Given the description of an element on the screen output the (x, y) to click on. 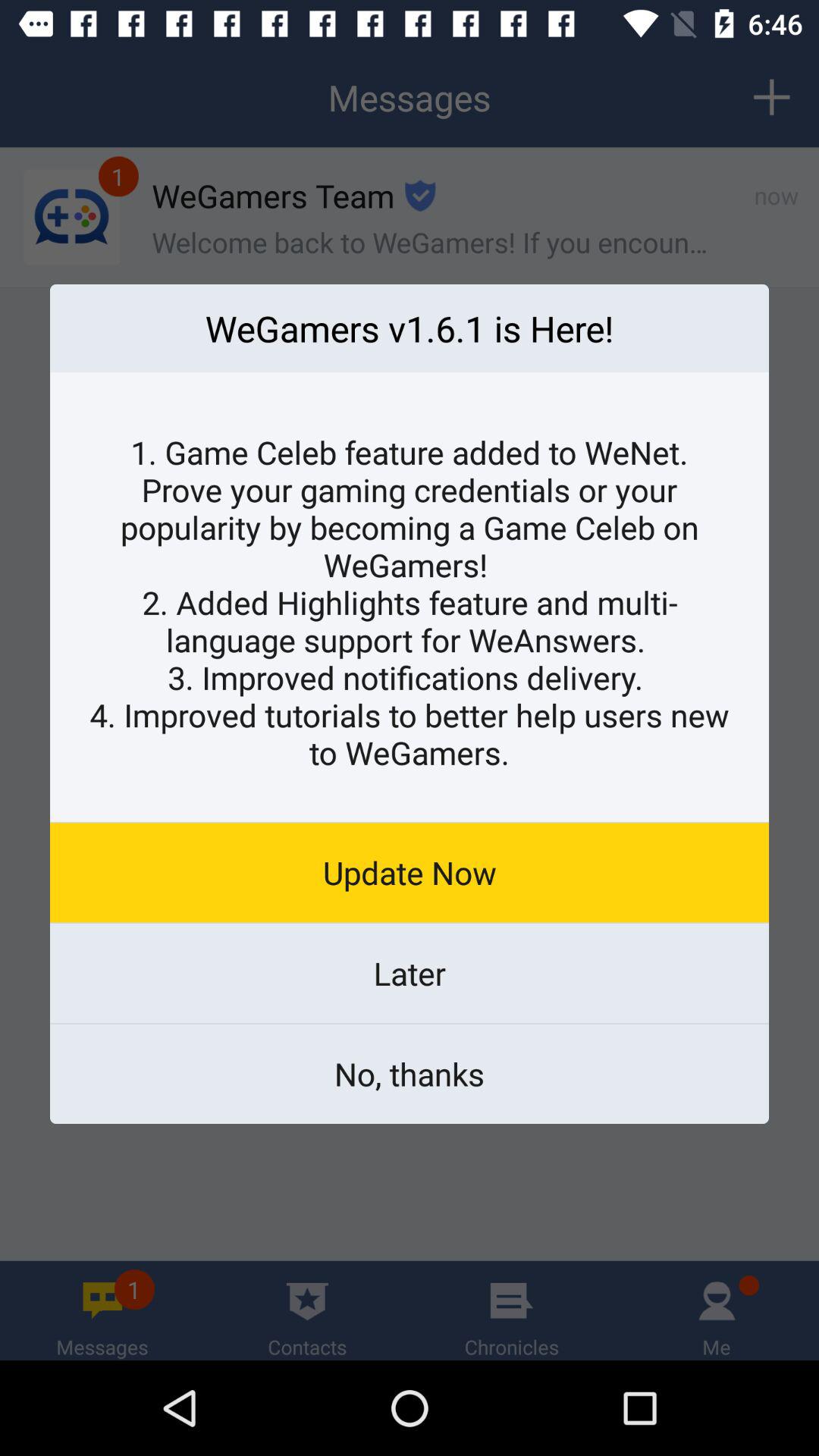
flip until update now app (409, 872)
